Given the description of an element on the screen output the (x, y) to click on. 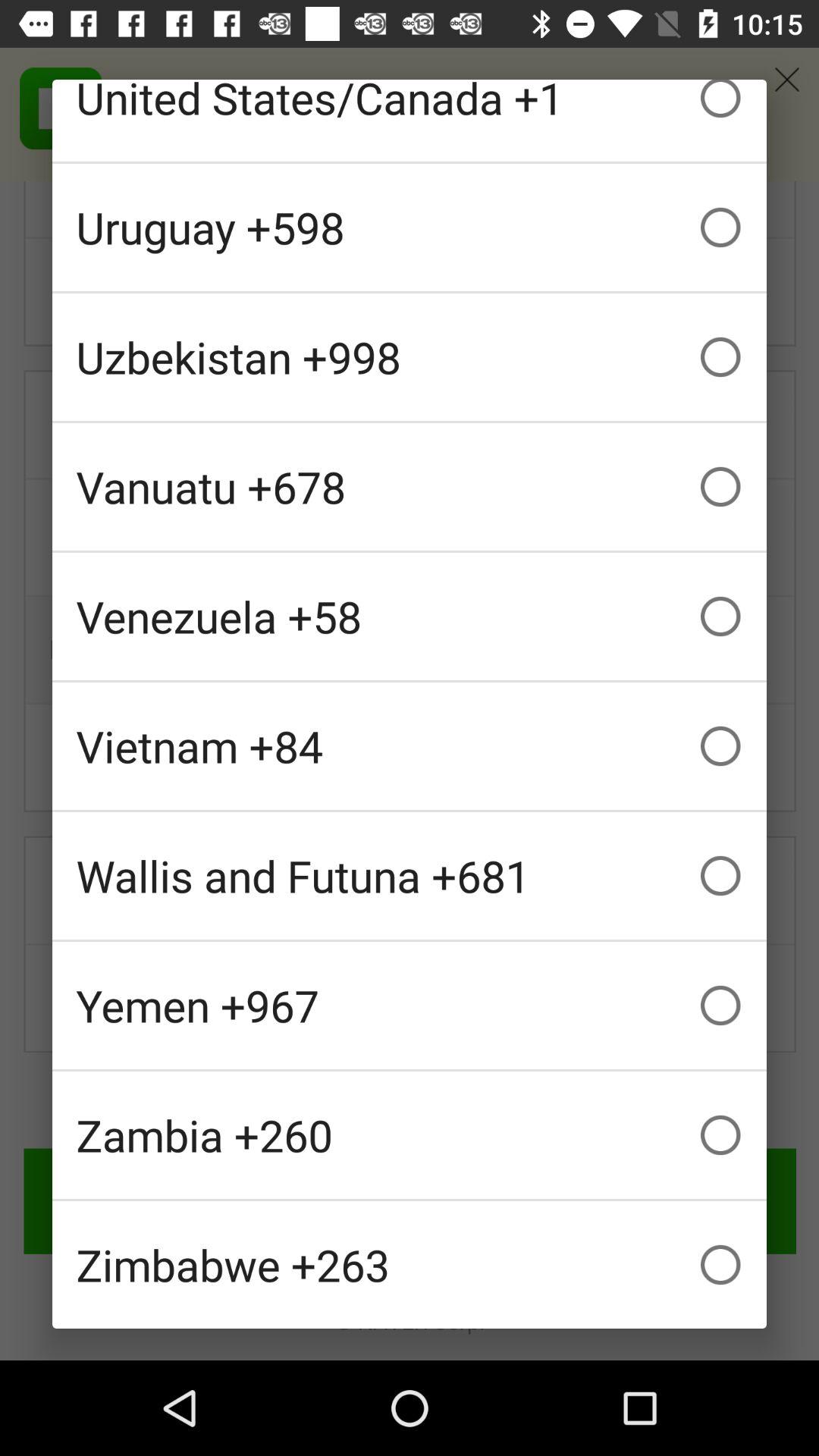
choose the item above venezuela +58 checkbox (409, 486)
